Given the description of an element on the screen output the (x, y) to click on. 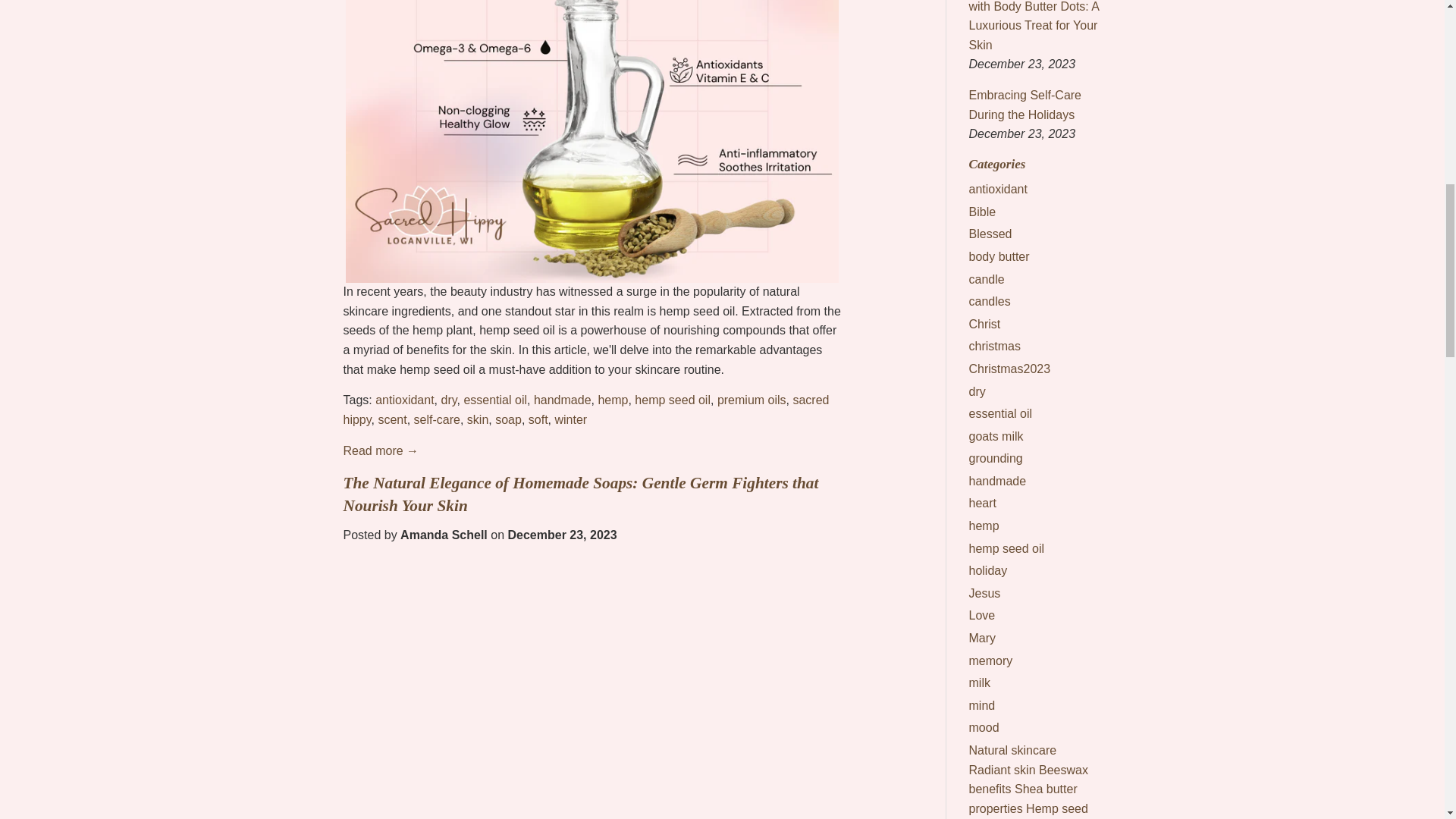
Show articles tagged candle (986, 278)
soap (508, 419)
sacred hippy (585, 409)
antioxidant (404, 399)
Show articles tagged candles (989, 300)
Show articles tagged christmas (994, 345)
skin (477, 419)
Show articles tagged Christmas2023 (1010, 368)
winter (570, 419)
Show articles tagged antioxidant (998, 188)
handmade (562, 399)
scent (391, 419)
Show articles tagged goats milk (996, 436)
soft (538, 419)
premium oils (751, 399)
